Given the description of an element on the screen output the (x, y) to click on. 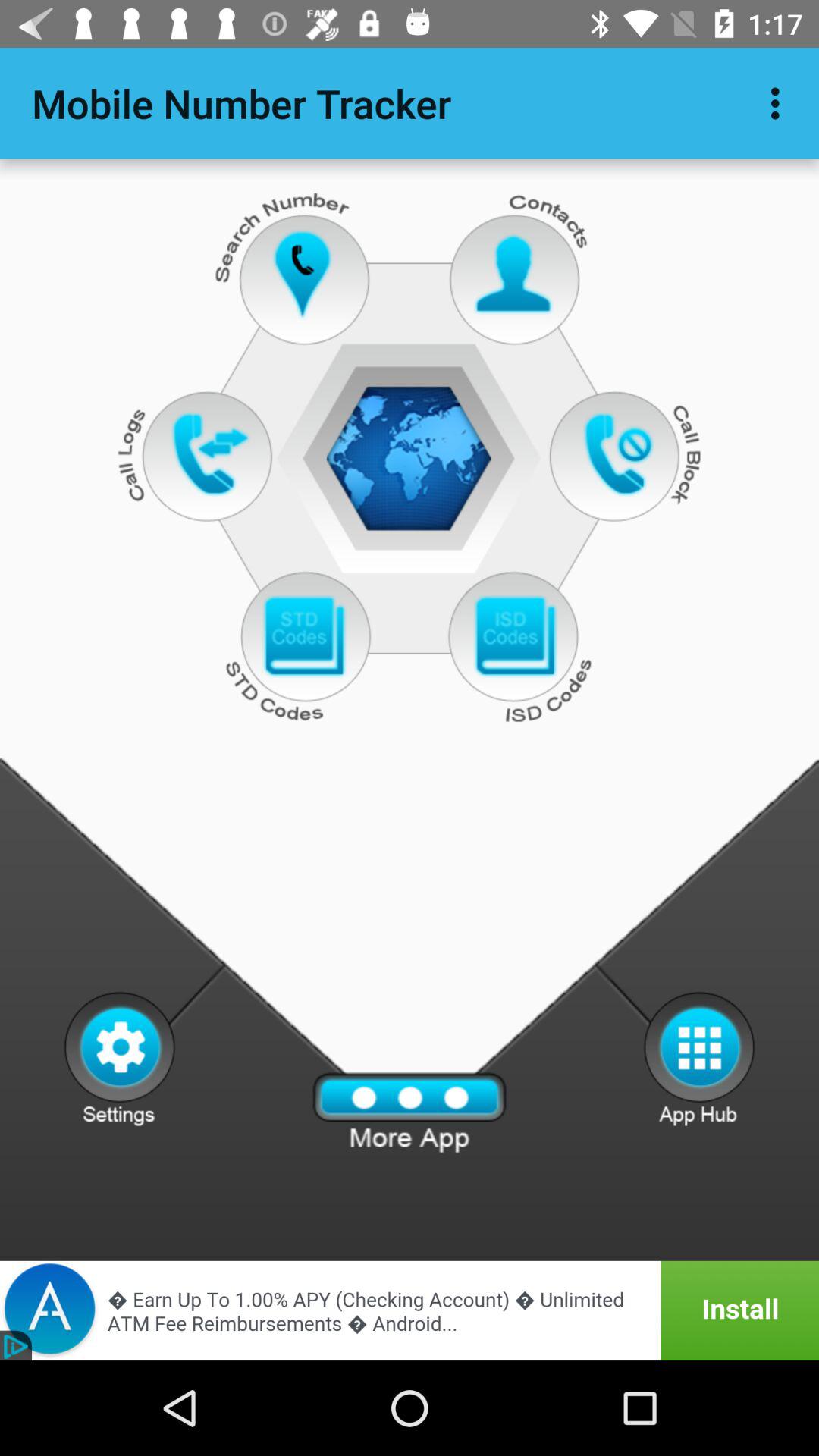
more apps (409, 1112)
